Given the description of an element on the screen output the (x, y) to click on. 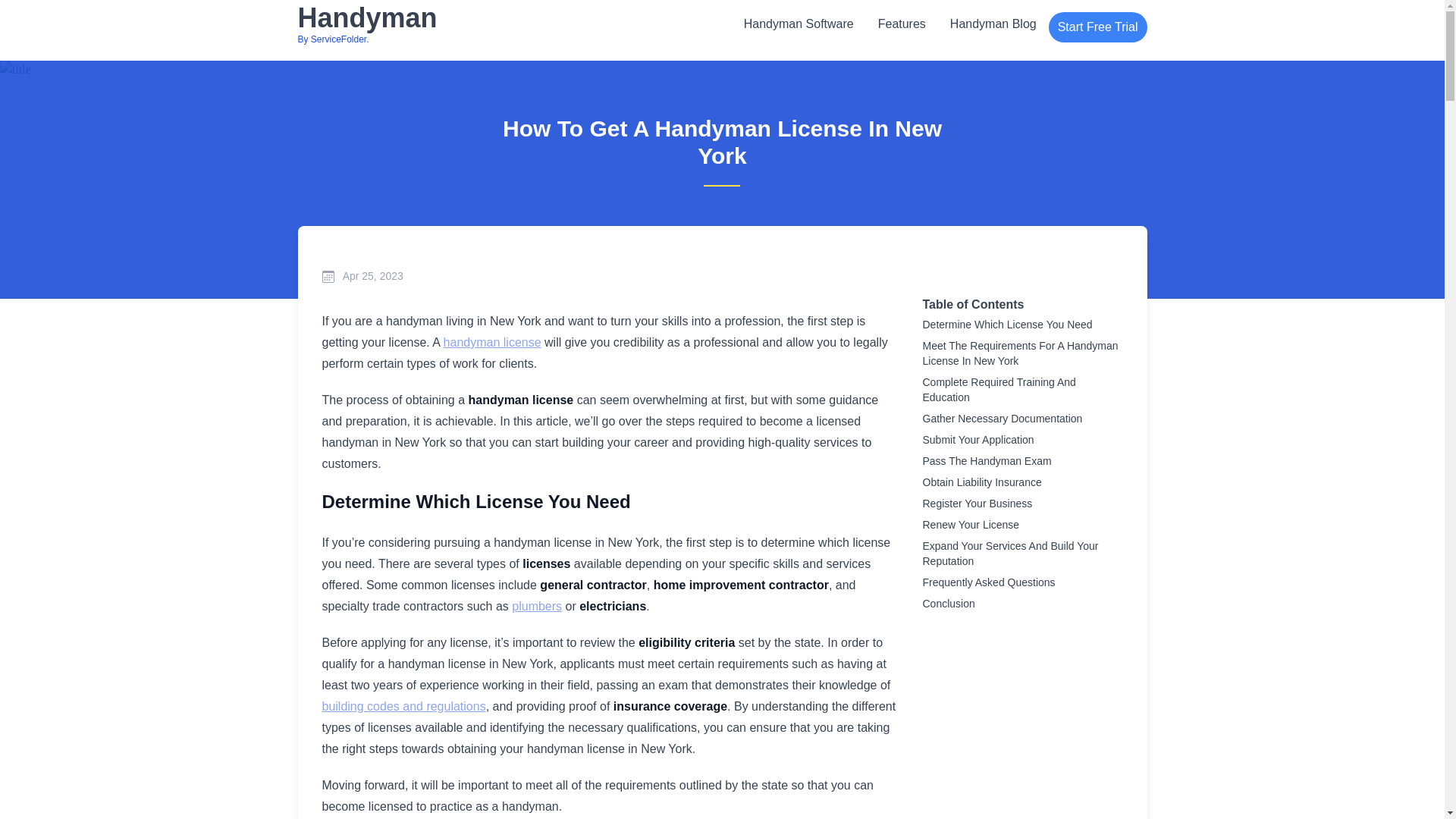
Features (901, 23)
Meet The Requirements For A Handyman License In New York (1021, 352)
Complete Required Training And Education (1021, 389)
plumbers (537, 605)
Handyman Software (799, 23)
Handyman Blog (992, 23)
Determine Which License You Need (366, 24)
Start Free Trial (1021, 323)
building codes and regulations (1097, 27)
